Given the description of an element on the screen output the (x, y) to click on. 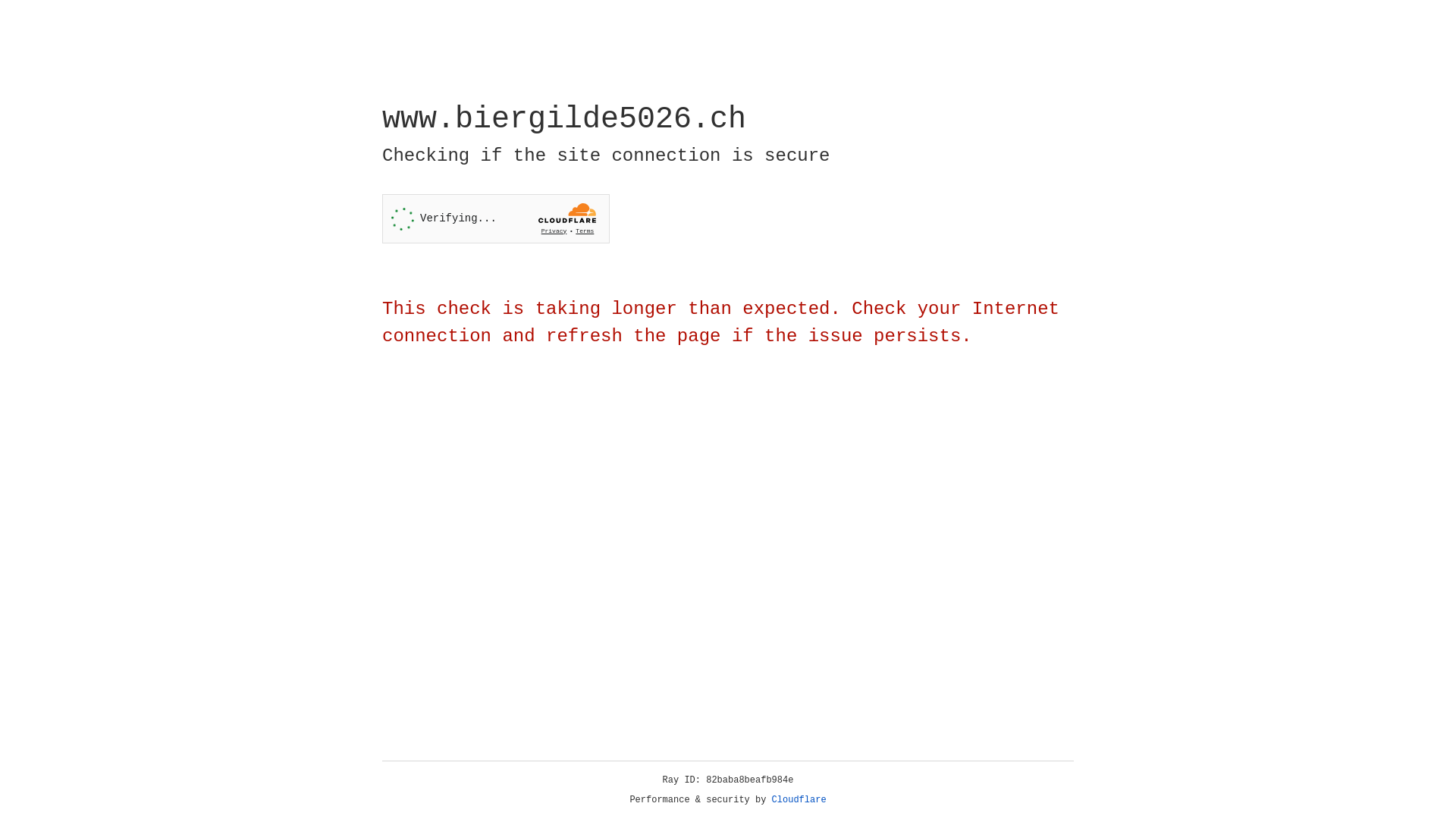
Cloudflare Element type: text (798, 799)
Widget containing a Cloudflare security challenge Element type: hover (495, 218)
